Given the description of an element on the screen output the (x, y) to click on. 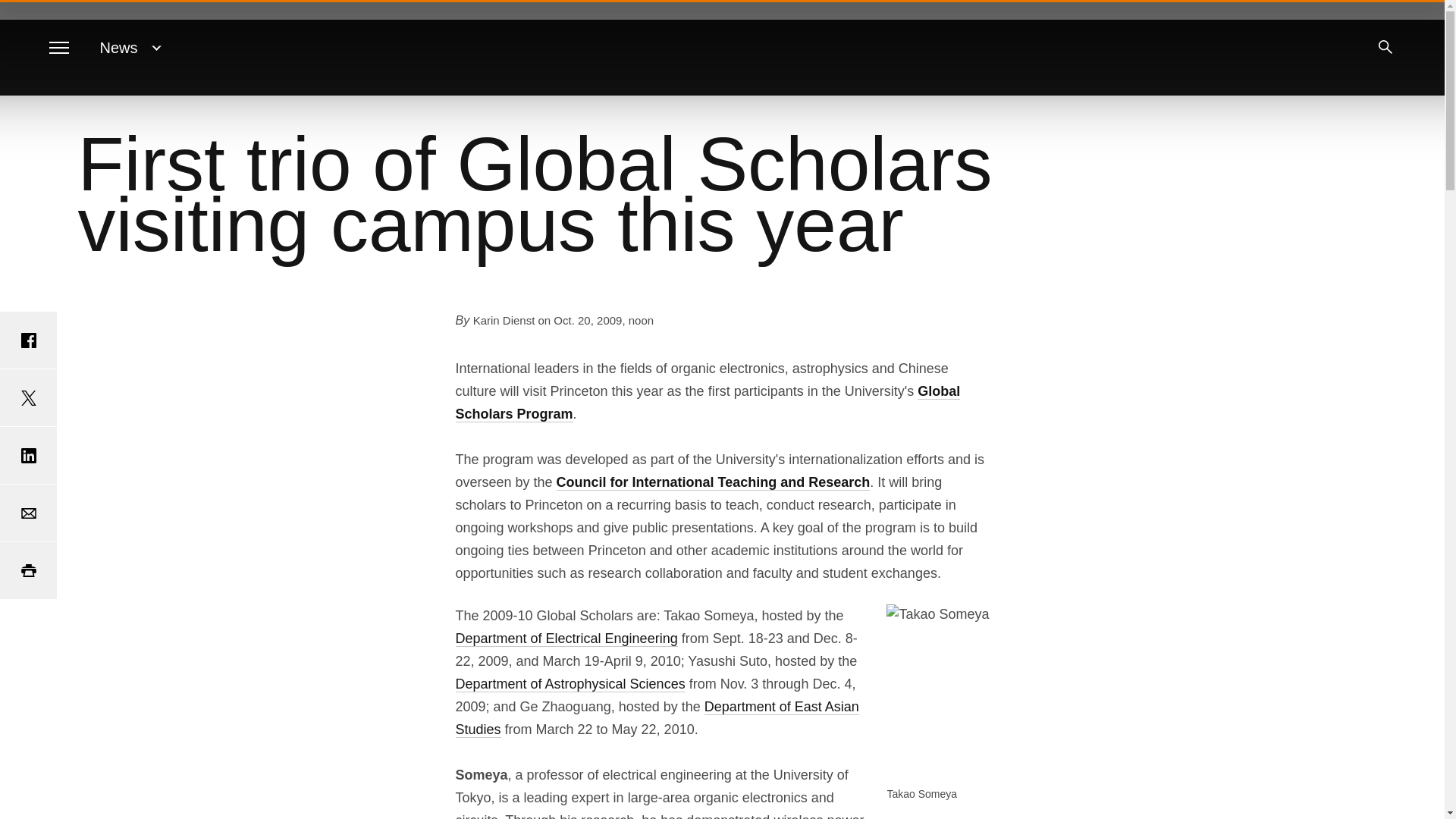
Department of Electrical Engineering (565, 638)
News (119, 47)
Council for International Teaching and Research (713, 482)
Share on Facebook (28, 340)
Princeton University (722, 49)
Email (28, 512)
Department of Astrophysical Sciences (569, 684)
Share on LinkedIn (28, 455)
SKIP TO MAIN CONTENT (22, 13)
Home (722, 49)
